Given the description of an element on the screen output the (x, y) to click on. 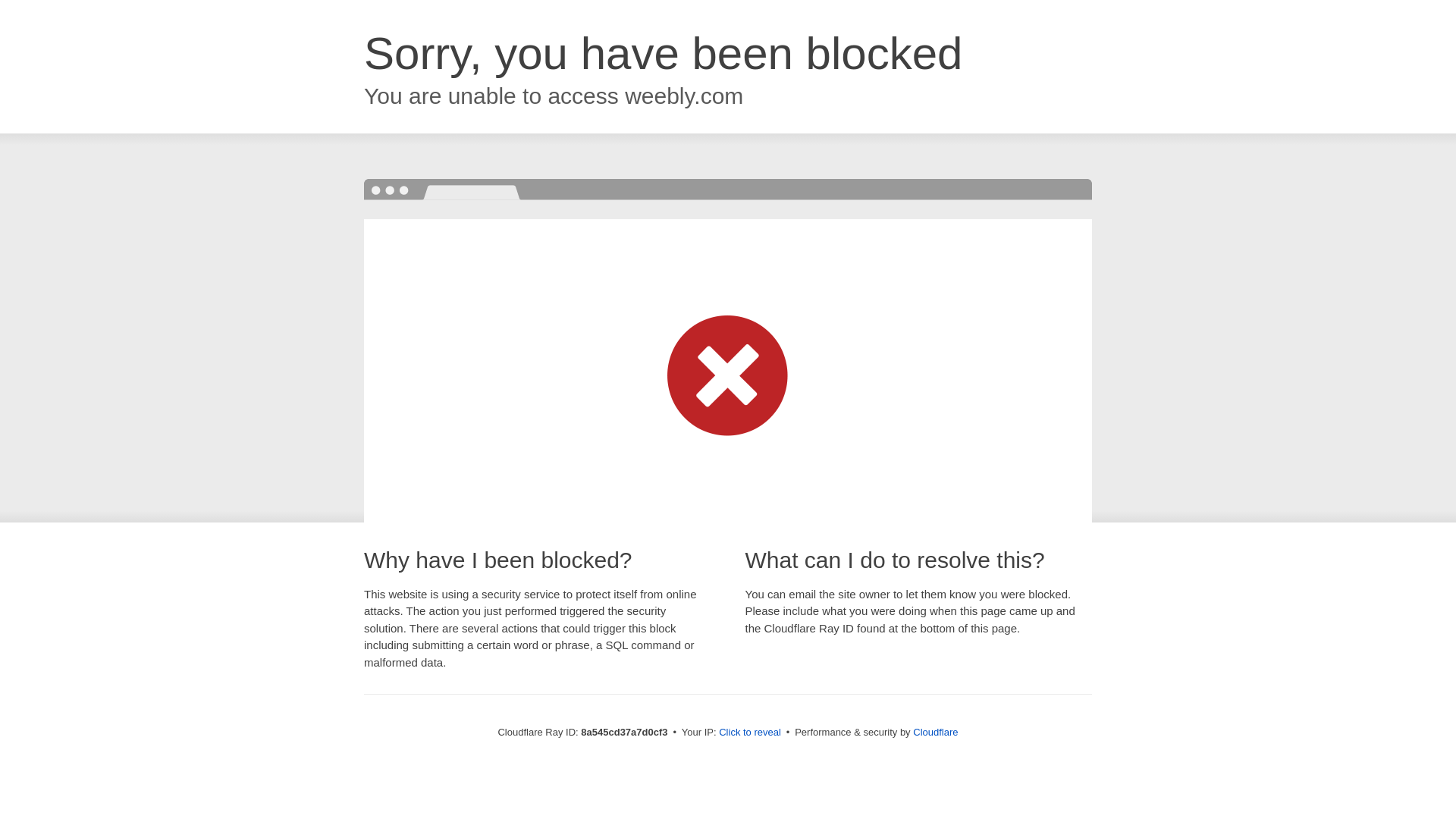
Cloudflare (935, 731)
Click to reveal (749, 732)
